Given the description of an element on the screen output the (x, y) to click on. 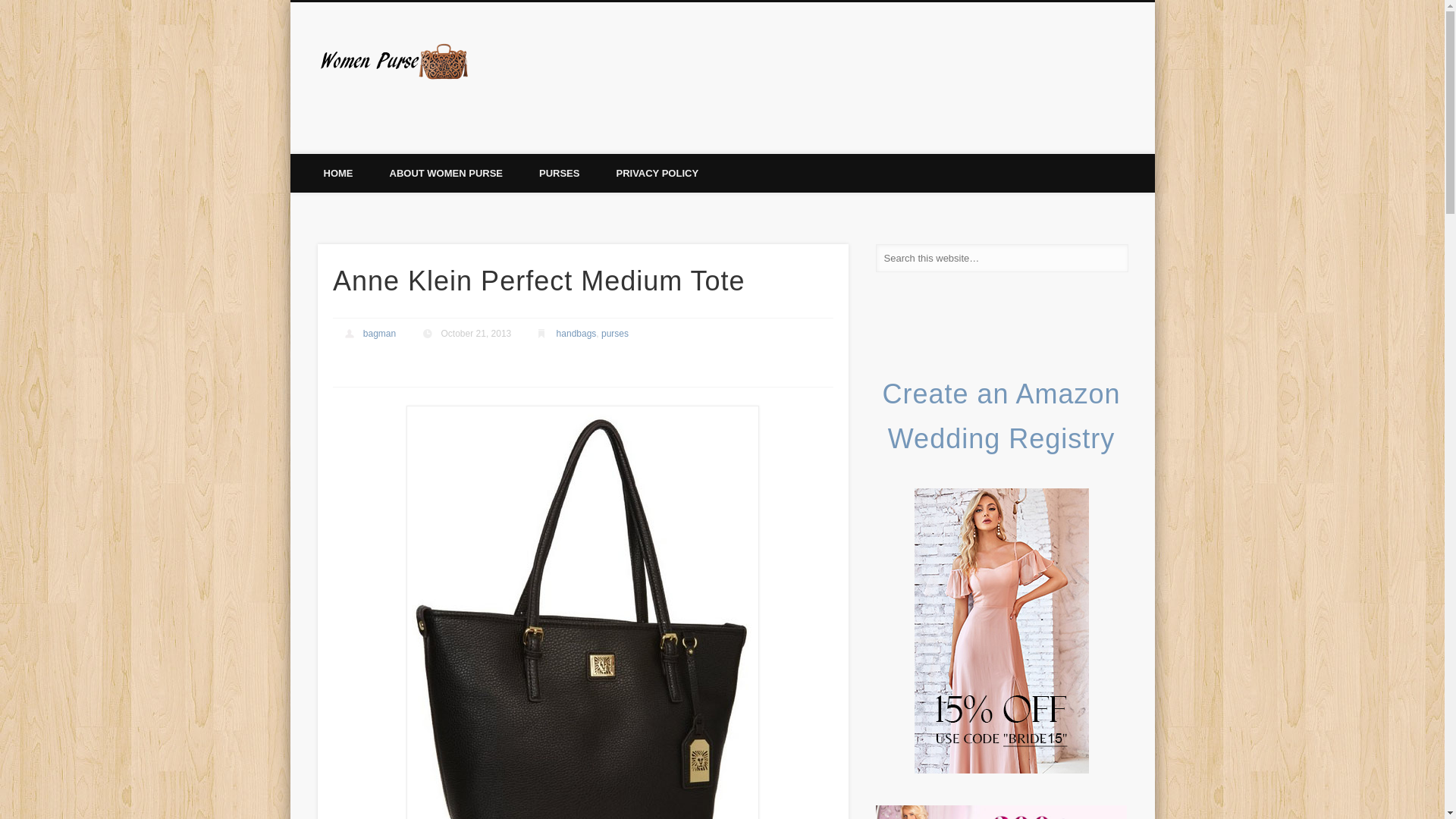
PRIVACY POLICY (656, 172)
ABOUT WOMEN PURSE (446, 172)
Women Purse (547, 59)
Posts by bagman (379, 332)
HOME (337, 172)
handbags (576, 332)
bagman (379, 332)
purses (614, 332)
PURSES (558, 172)
